Given the description of an element on the screen output the (x, y) to click on. 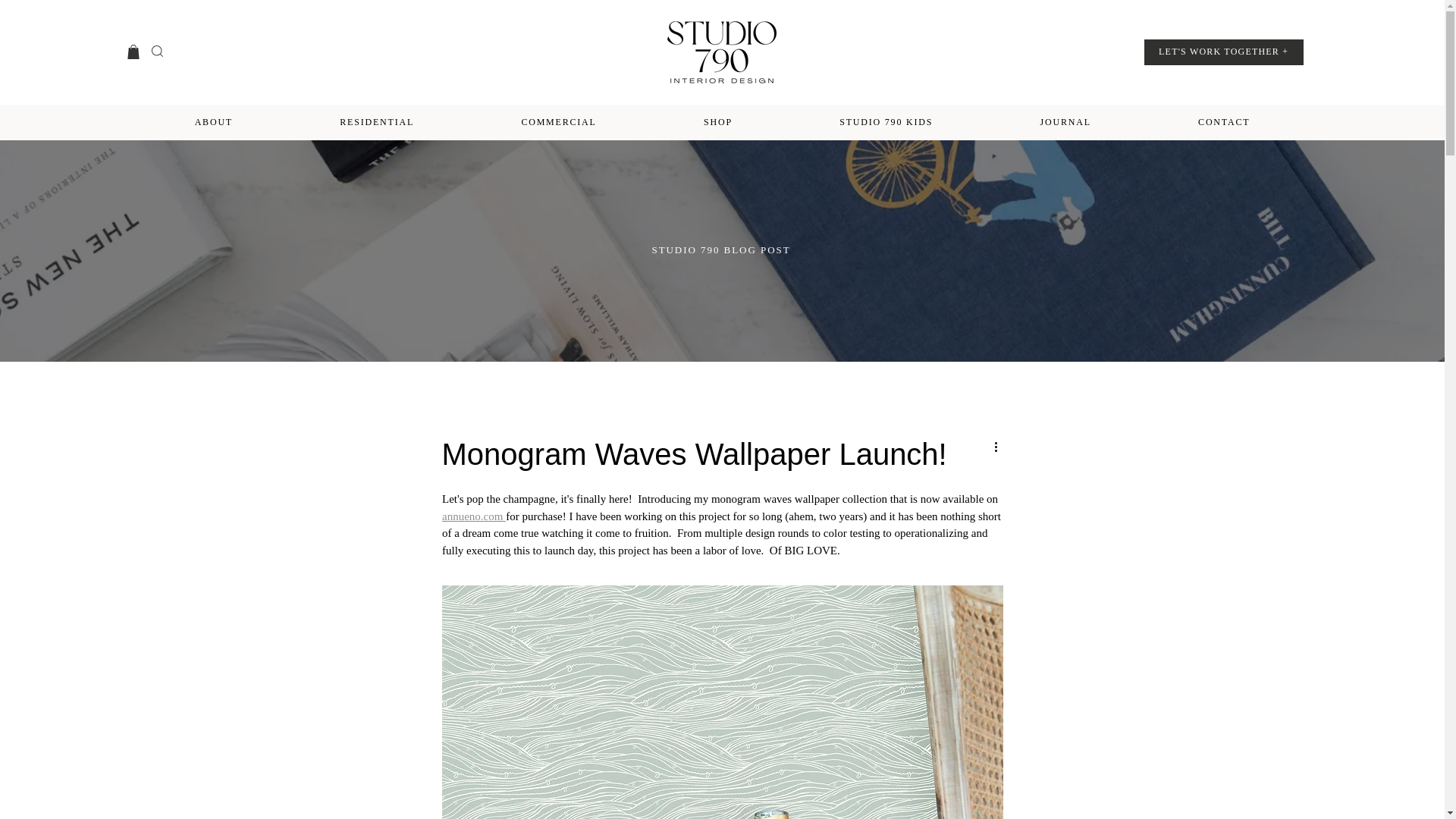
ABOUT (213, 121)
JOURNAL (1065, 121)
STUDIO 790 KIDS (886, 121)
RESIDENTIAL (376, 121)
annueno.com  (473, 516)
SHOP (717, 121)
CONTACT (1223, 121)
COMMERCIAL (558, 121)
